Given the description of an element on the screen output the (x, y) to click on. 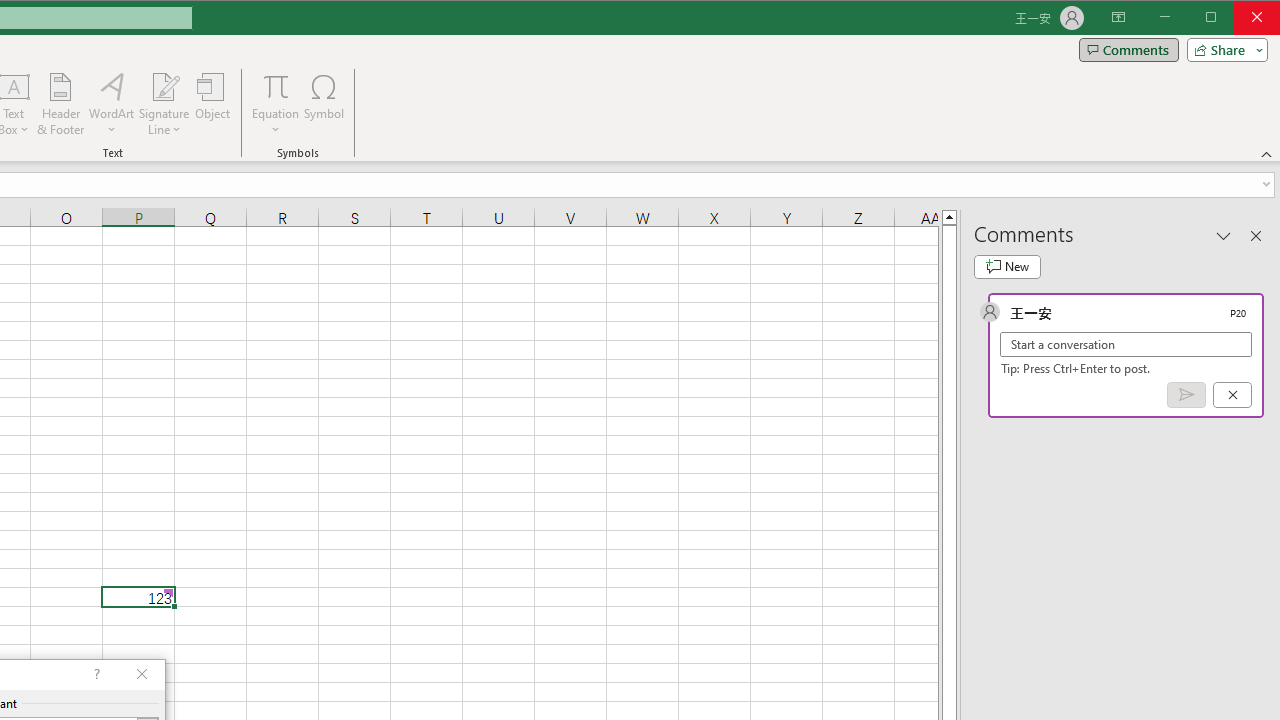
Post comment (Ctrl + Enter) (1186, 395)
Equation (275, 104)
Minimize (1217, 18)
Close pane (1256, 235)
More Options (275, 123)
Share (1223, 49)
Equation (275, 86)
Ribbon Display Options (1118, 17)
Object... (213, 104)
Task Pane Options (1224, 235)
Close (1261, 18)
Maximize (1239, 18)
Signature Line (164, 104)
Collapse the Ribbon (1267, 154)
